Given the description of an element on the screen output the (x, y) to click on. 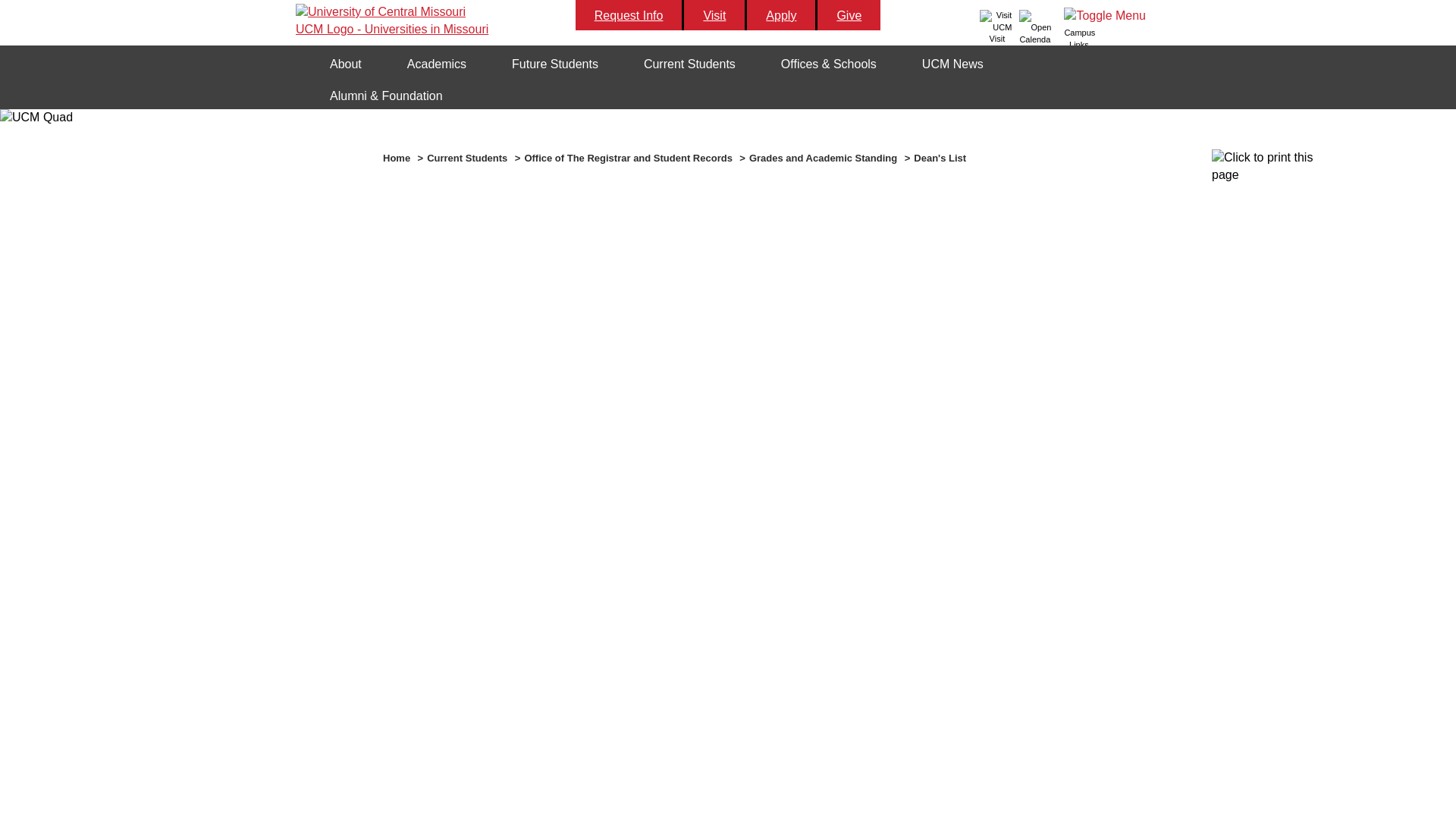
Campus Links (1105, 29)
Request More Information (629, 15)
Visit (715, 15)
About (345, 63)
Visit    (995, 25)
Ways to Give to UCM (848, 15)
Request Info (629, 15)
Apply (781, 15)
About (345, 63)
Events  (1035, 25)
Visit UCM (715, 15)
Academics (436, 63)
Apply to UCM (781, 15)
Give (848, 15)
Academics (436, 63)
